Given the description of an element on the screen output the (x, y) to click on. 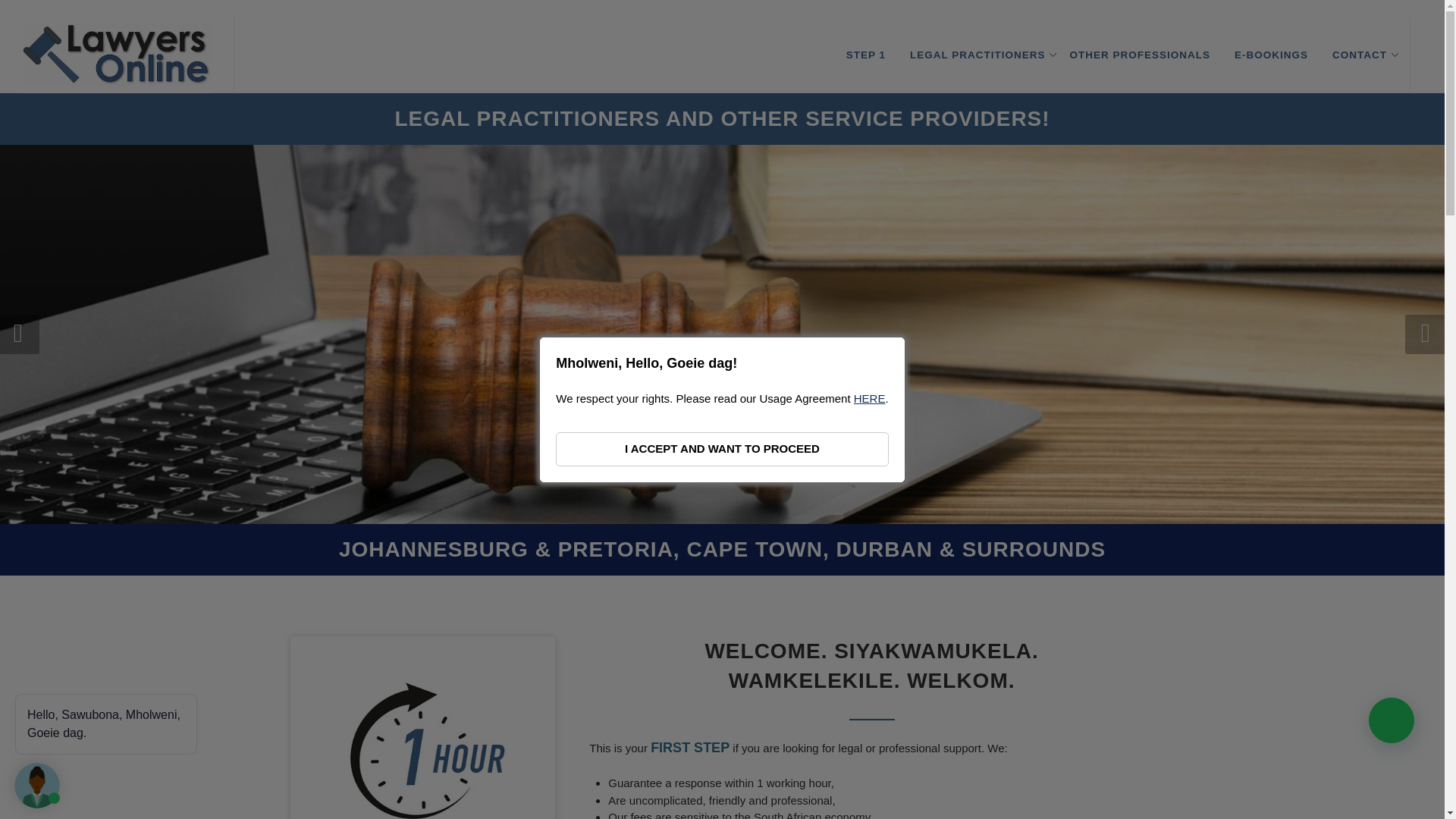
HERE (869, 398)
OTHER PROFESSIONALS (1139, 54)
CONTACT (1358, 54)
LEGAL PRACTITIONERS (977, 54)
I ACCEPT AND WANT TO PROCEED (722, 449)
STEP 1 (865, 54)
E-BOOKINGS (1271, 54)
